Given the description of an element on the screen output the (x, y) to click on. 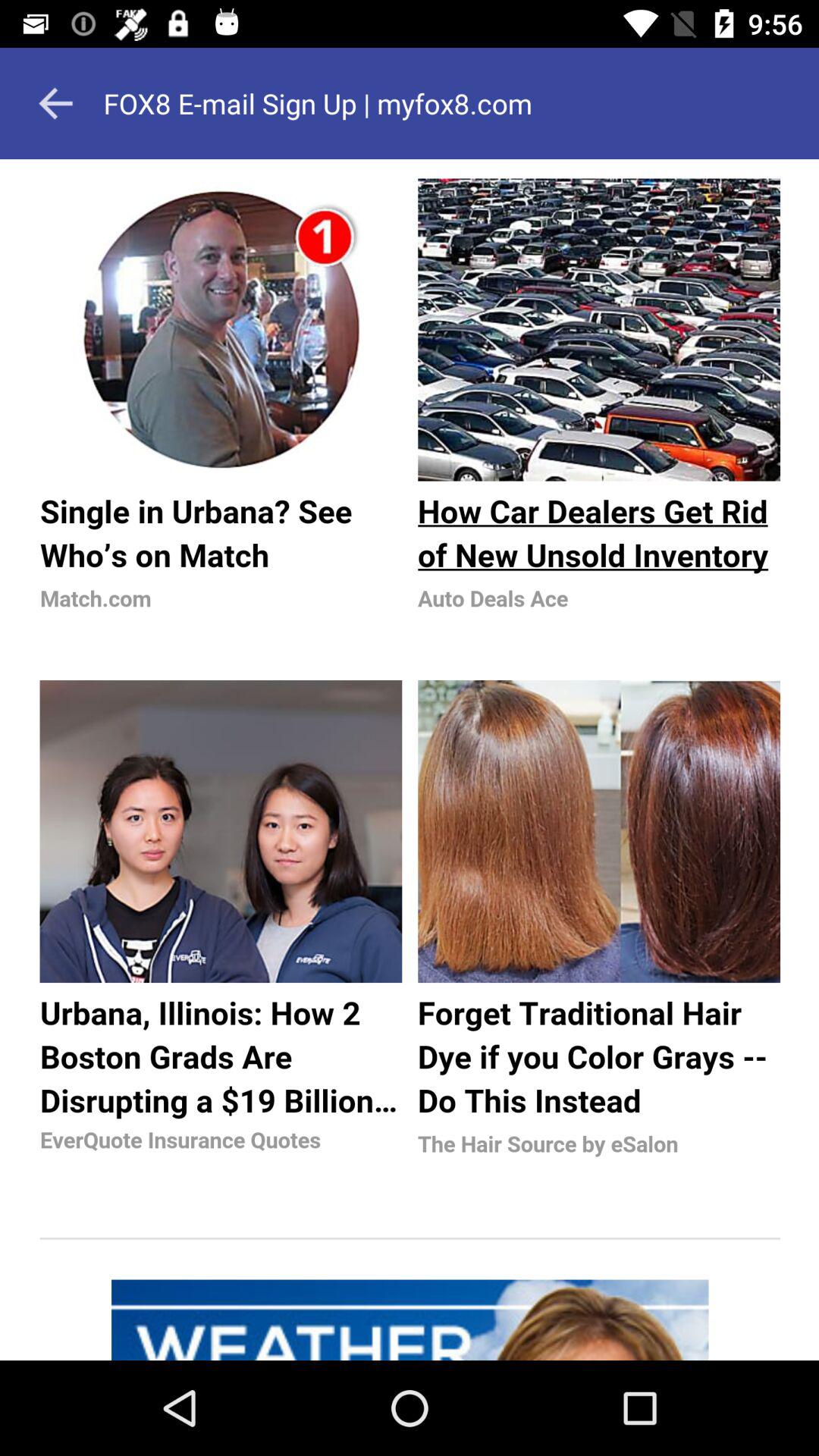
go to article (409, 759)
